Given the description of an element on the screen output the (x, y) to click on. 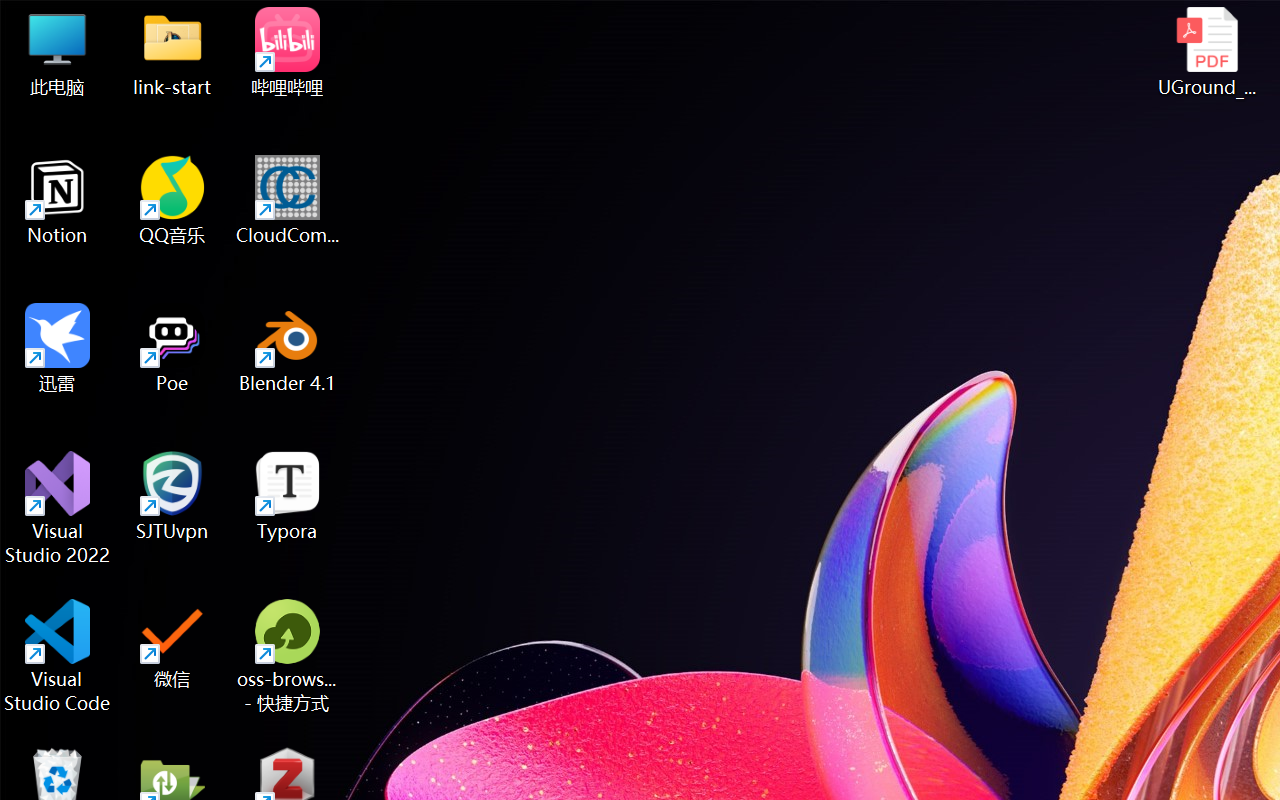
Blender 4.1 (287, 348)
UGround_paper.pdf (1206, 52)
Visual Studio Code (57, 656)
CloudCompare (287, 200)
Typora (287, 496)
Visual Studio 2022 (57, 508)
SJTUvpn (172, 496)
